Given the description of an element on the screen output the (x, y) to click on. 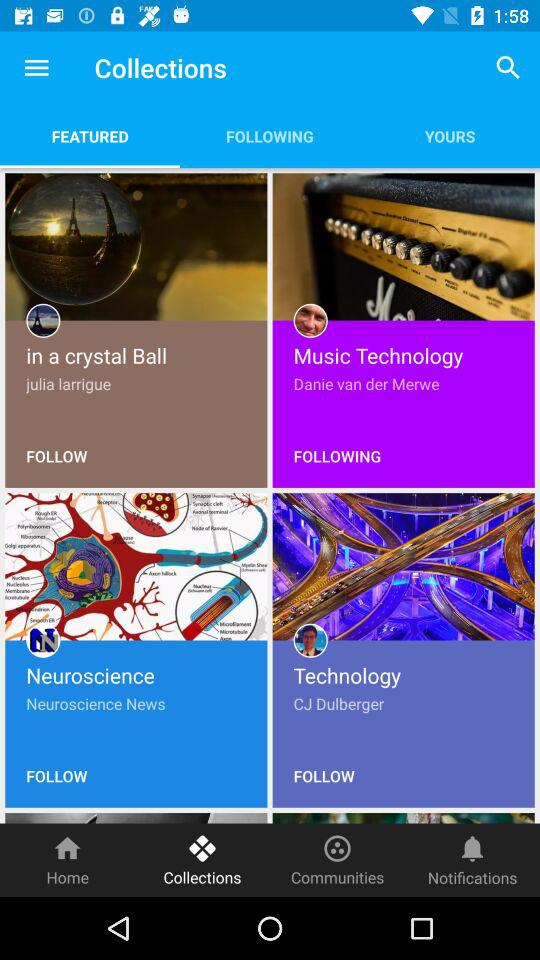
tap the item to the left of collections (67, 859)
